Given the description of an element on the screen output the (x, y) to click on. 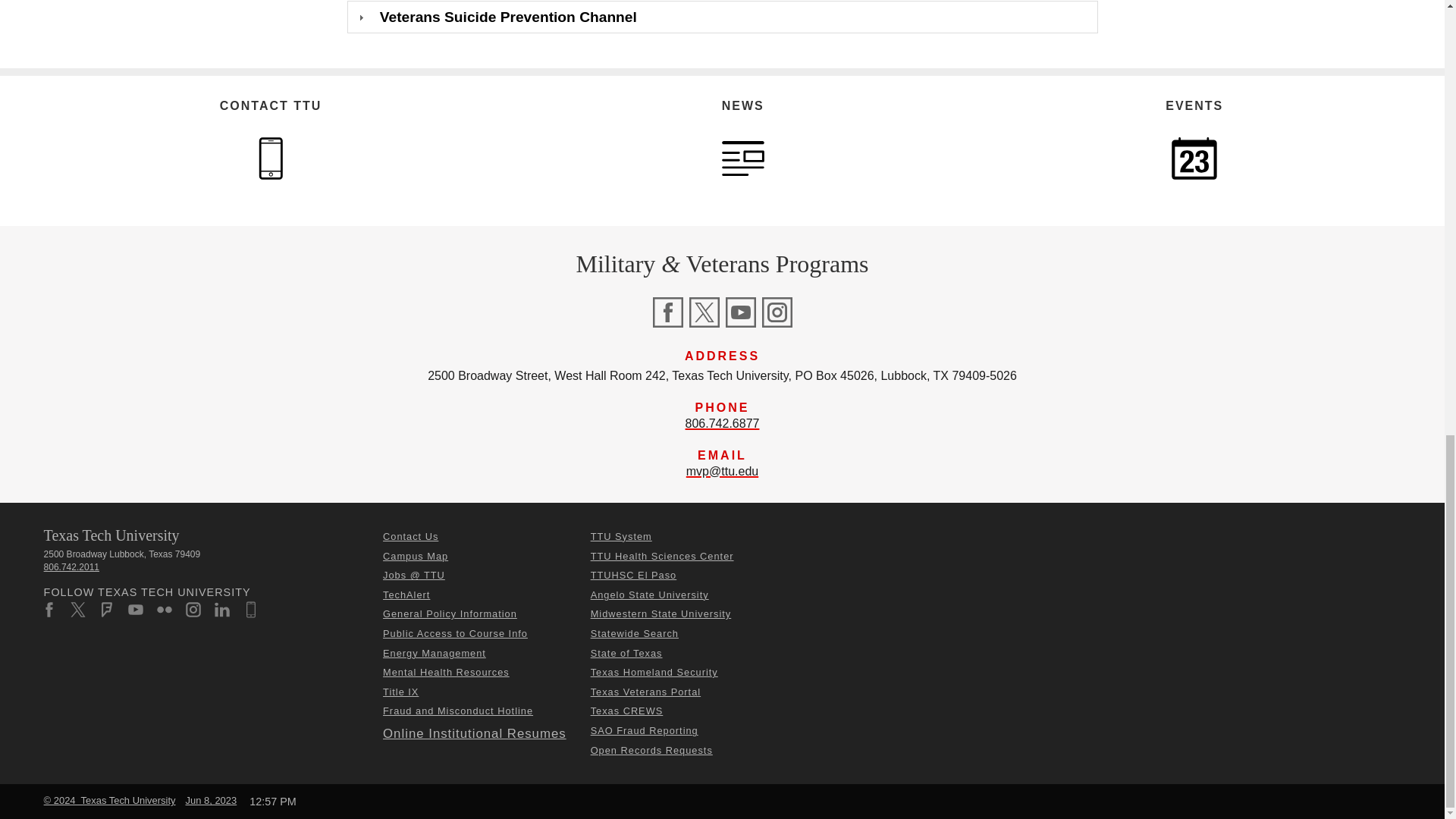
CONTACT CONTACT TTUCONTACT CONTACT TTU (270, 158)
NEWS FOR NEWSNEWS FOR NEWS (743, 158)
EVENTSEVENTS (1193, 158)
